Given the description of an element on the screen output the (x, y) to click on. 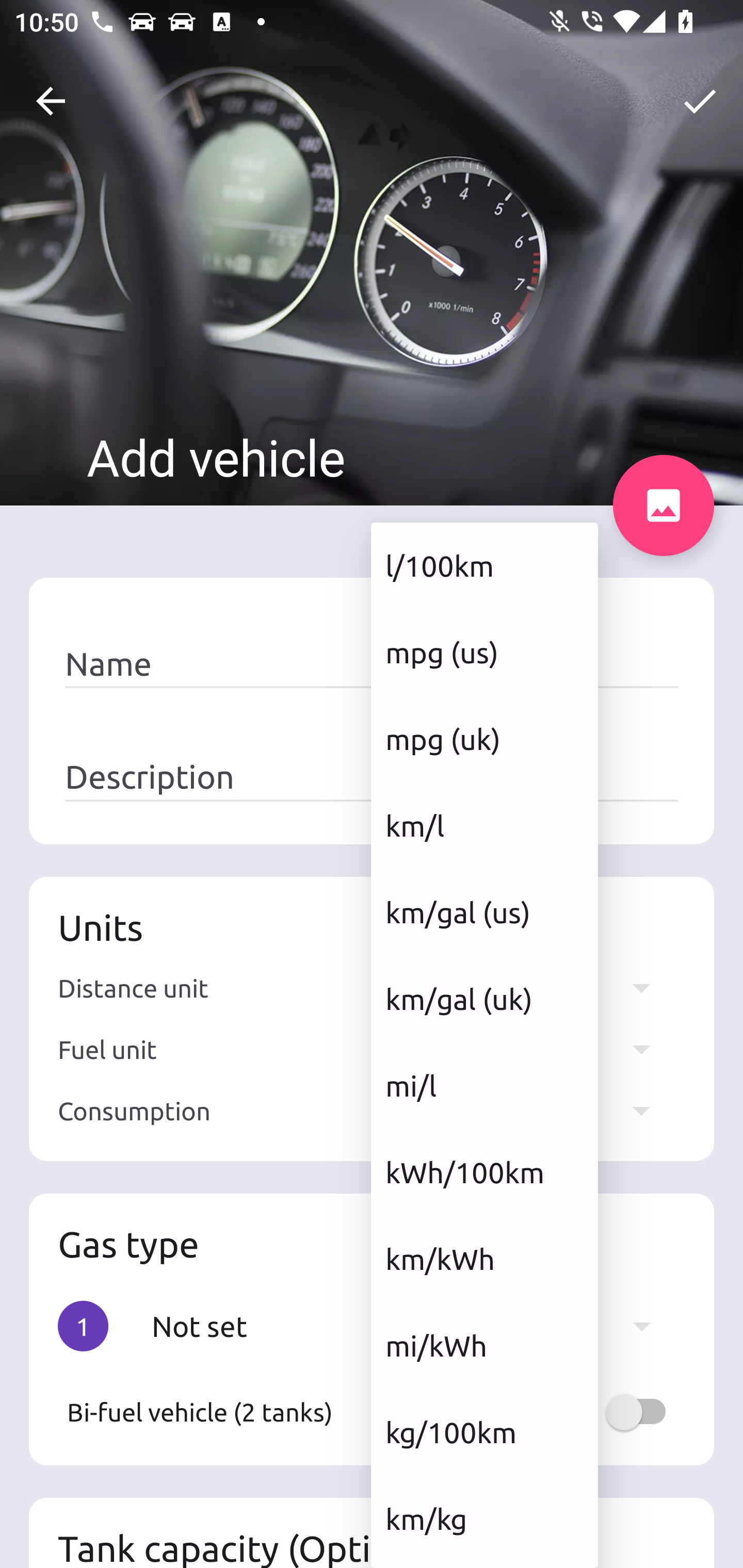
l/100km (484, 565)
mpg (us) (484, 652)
mpg (uk) (484, 739)
km/l (484, 825)
km/gal (us) (484, 912)
km/gal (uk) (484, 999)
mi/l (484, 1085)
kWh/100km (484, 1171)
km/kWh (484, 1259)
mi/kWh (484, 1346)
kg/100km (484, 1432)
km/kg (484, 1518)
